Given the description of an element on the screen output the (x, y) to click on. 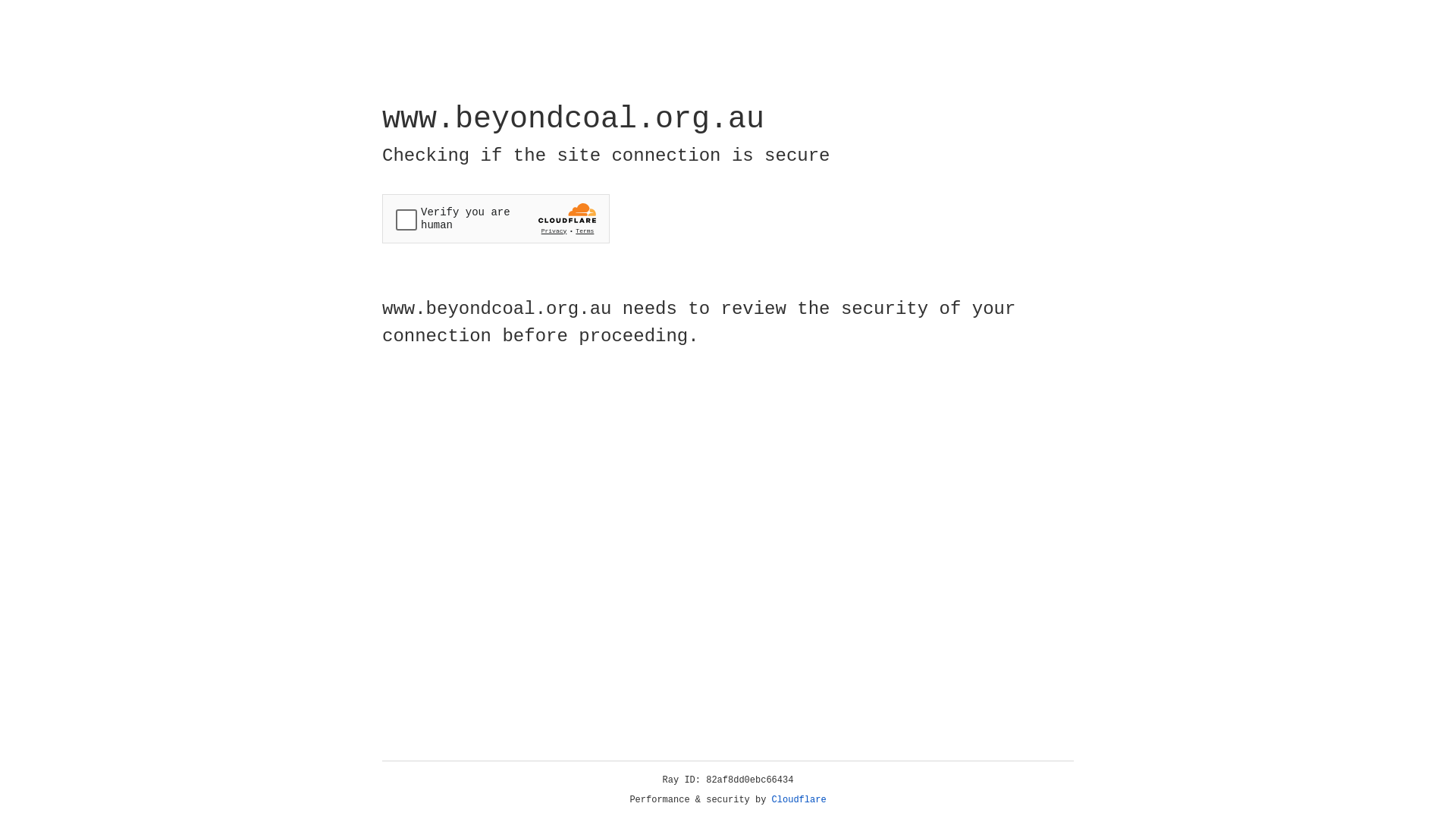
Cloudflare Element type: text (798, 799)
Widget containing a Cloudflare security challenge Element type: hover (495, 218)
